Given the description of an element on the screen output the (x, y) to click on. 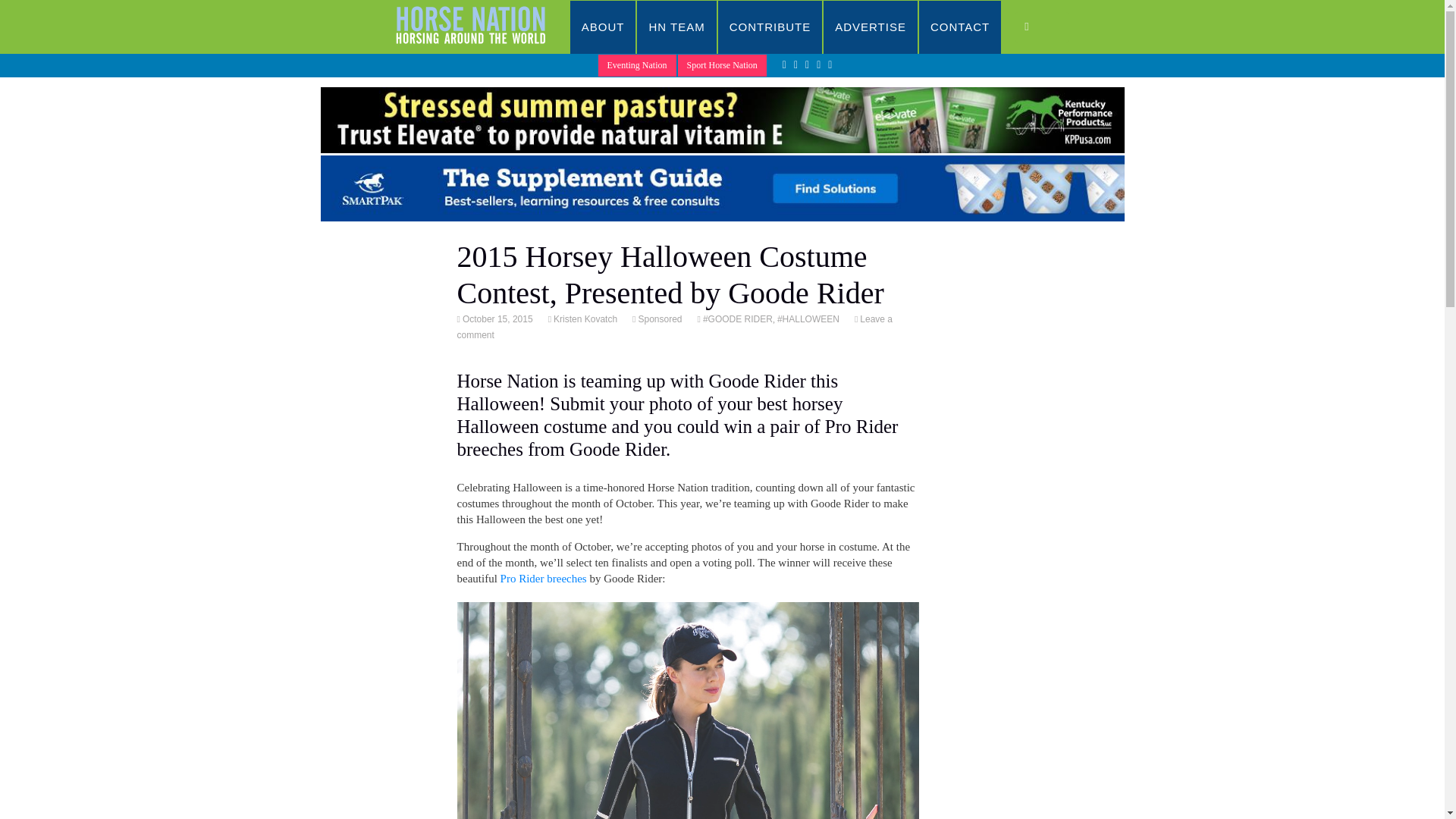
Sponsored (657, 318)
CONTACT (959, 27)
Leave a comment (674, 326)
View all posts by Kristen Kovatch (584, 318)
HN TEAM (676, 27)
ABOUT (603, 27)
SEARCH (1041, 27)
CONTRIBUTE (769, 27)
Kristen Kovatch (584, 318)
